Given the description of an element on the screen output the (x, y) to click on. 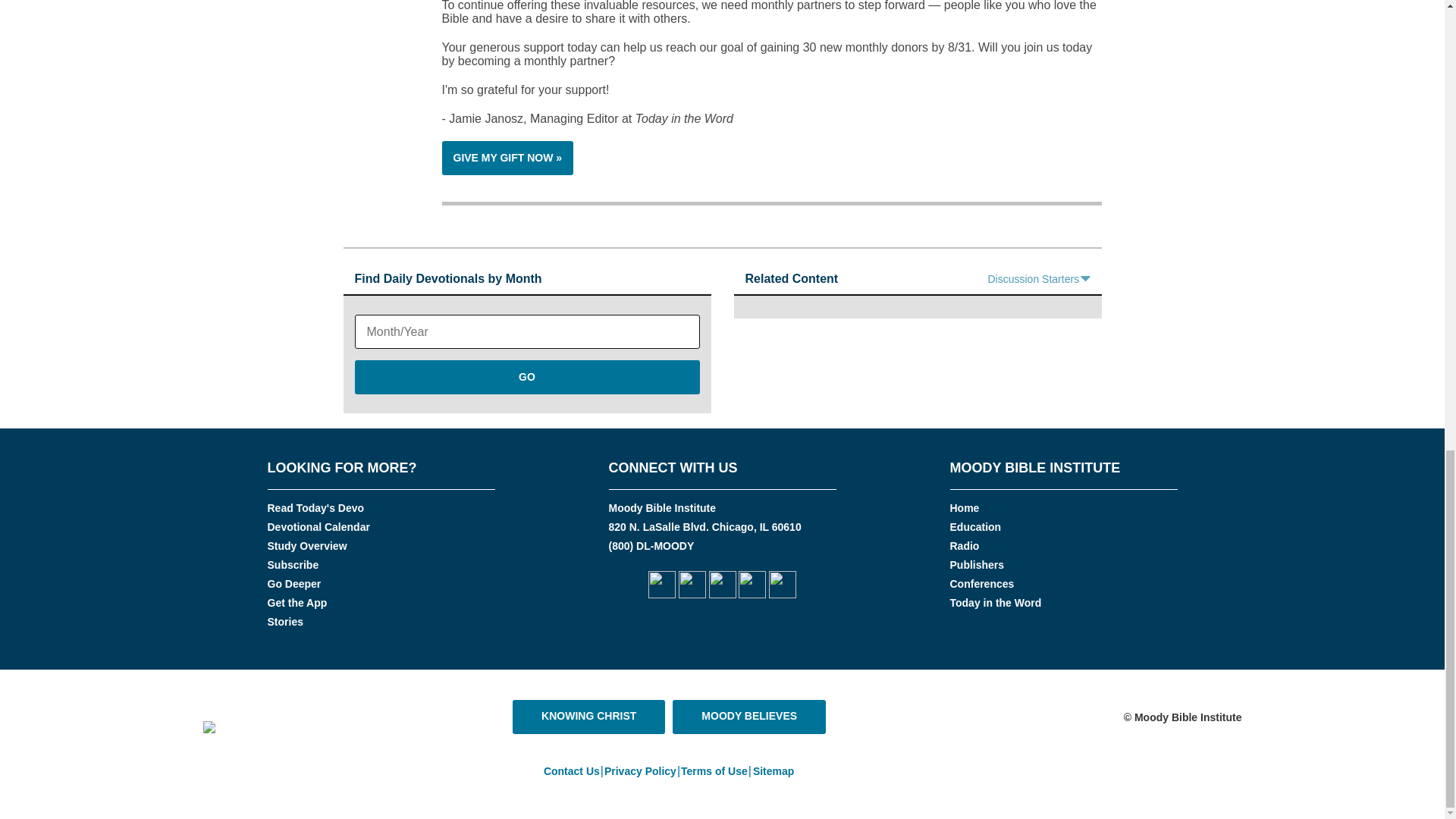
Get the App (296, 603)
Study Overview (306, 545)
Stories (284, 621)
Go (527, 376)
Read Today's Devo (315, 508)
Devotional Calendar (317, 526)
Go Deeper (293, 583)
Subscribe (292, 564)
Go (527, 376)
